Given the description of an element on the screen output the (x, y) to click on. 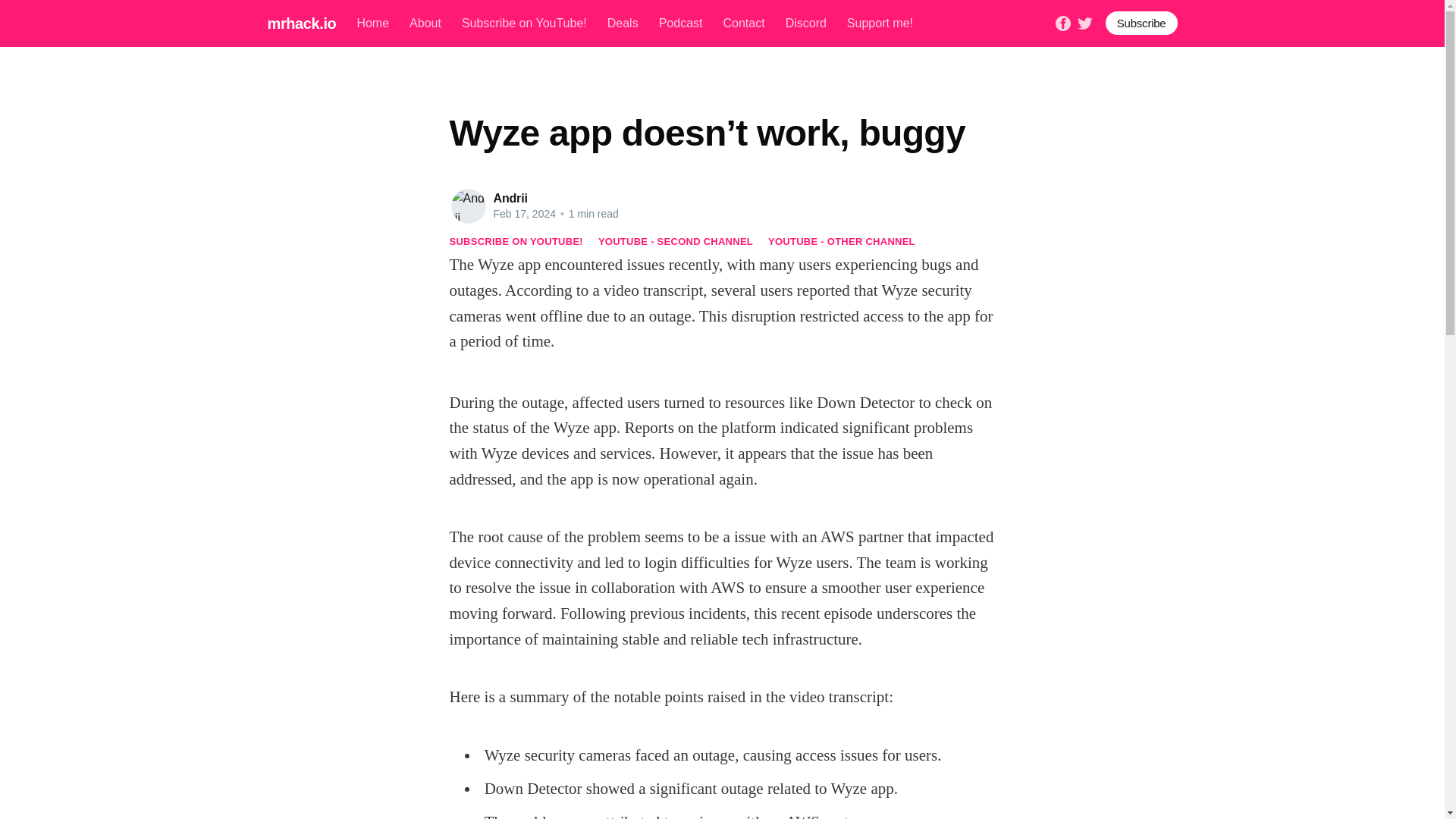
Discord (806, 22)
About (425, 22)
YOUTUBE - OTHER CHANNEL (841, 241)
YOUTUBE - SECOND CHANNEL (675, 241)
Home (372, 22)
mrhack.io (301, 23)
Support me! (879, 22)
Subscribe on YouTube! (523, 22)
Contact (743, 22)
Subscribe (1141, 23)
Facebook (1062, 21)
SUBSCRIBE ON YOUTUBE! (515, 241)
Deals (623, 22)
Twitter (1085, 21)
Andrii (510, 197)
